Given the description of an element on the screen output the (x, y) to click on. 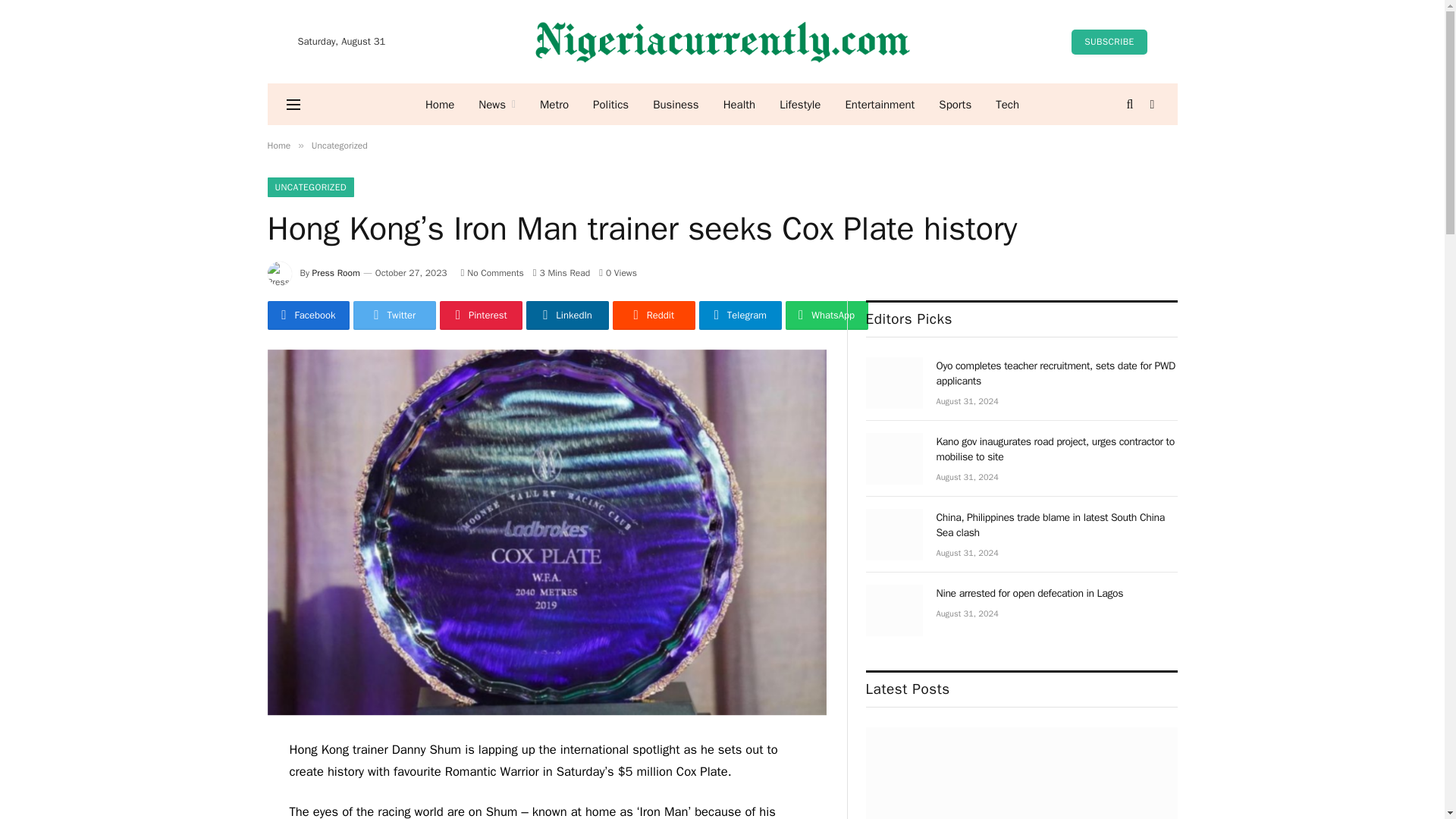
Tech (1007, 104)
Lifestyle (799, 104)
Switch to Dark Design - easier on eyes. (1150, 104)
Health (739, 104)
SUBSCRIBE (1109, 41)
Sports (955, 104)
Home (439, 104)
Home (277, 145)
Politics (610, 104)
News (496, 104)
